Given the description of an element on the screen output the (x, y) to click on. 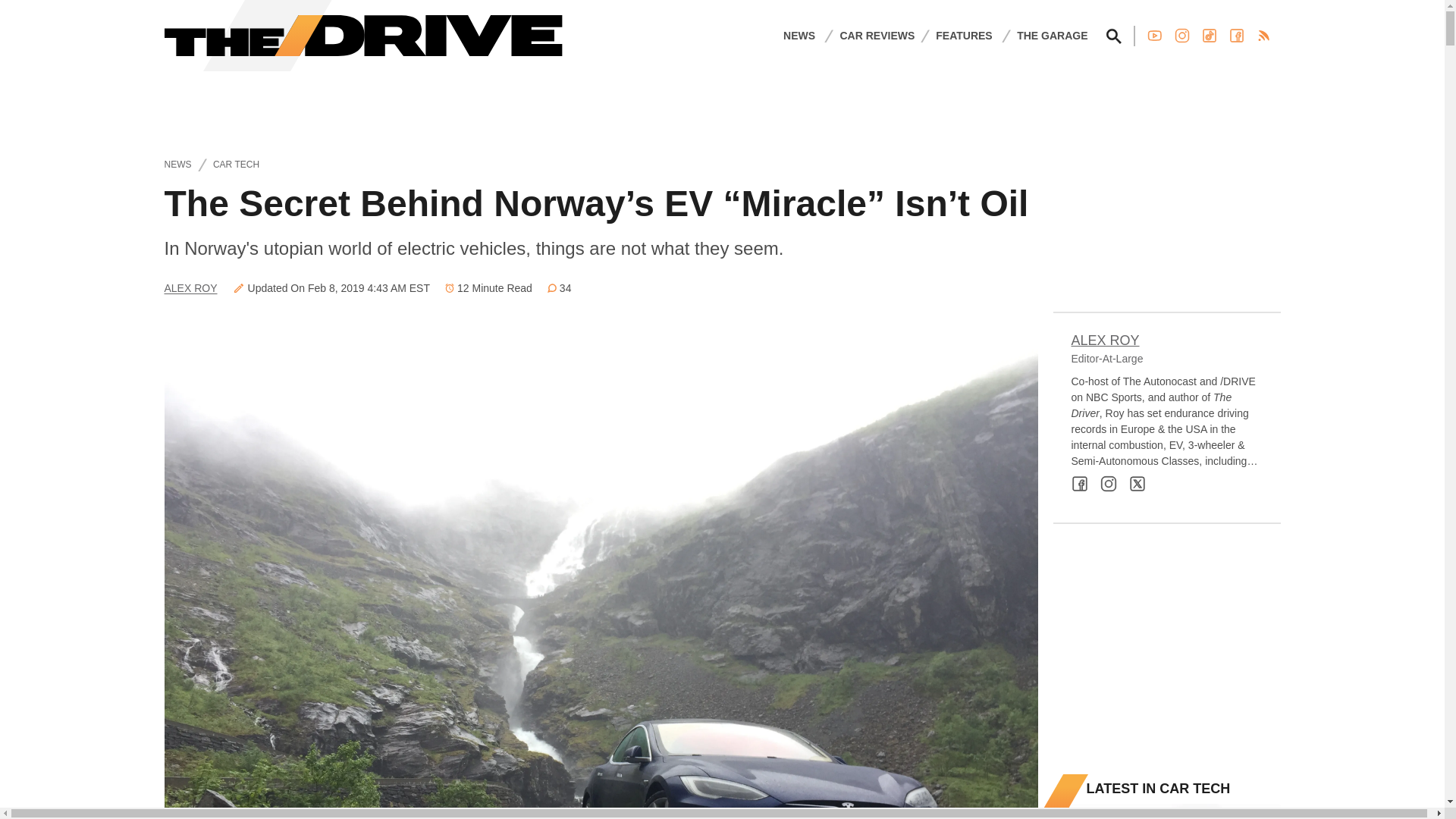
3rd party ad content (1165, 648)
3rd party ad content (721, 105)
NEWS (799, 34)
